Given the description of an element on the screen output the (x, y) to click on. 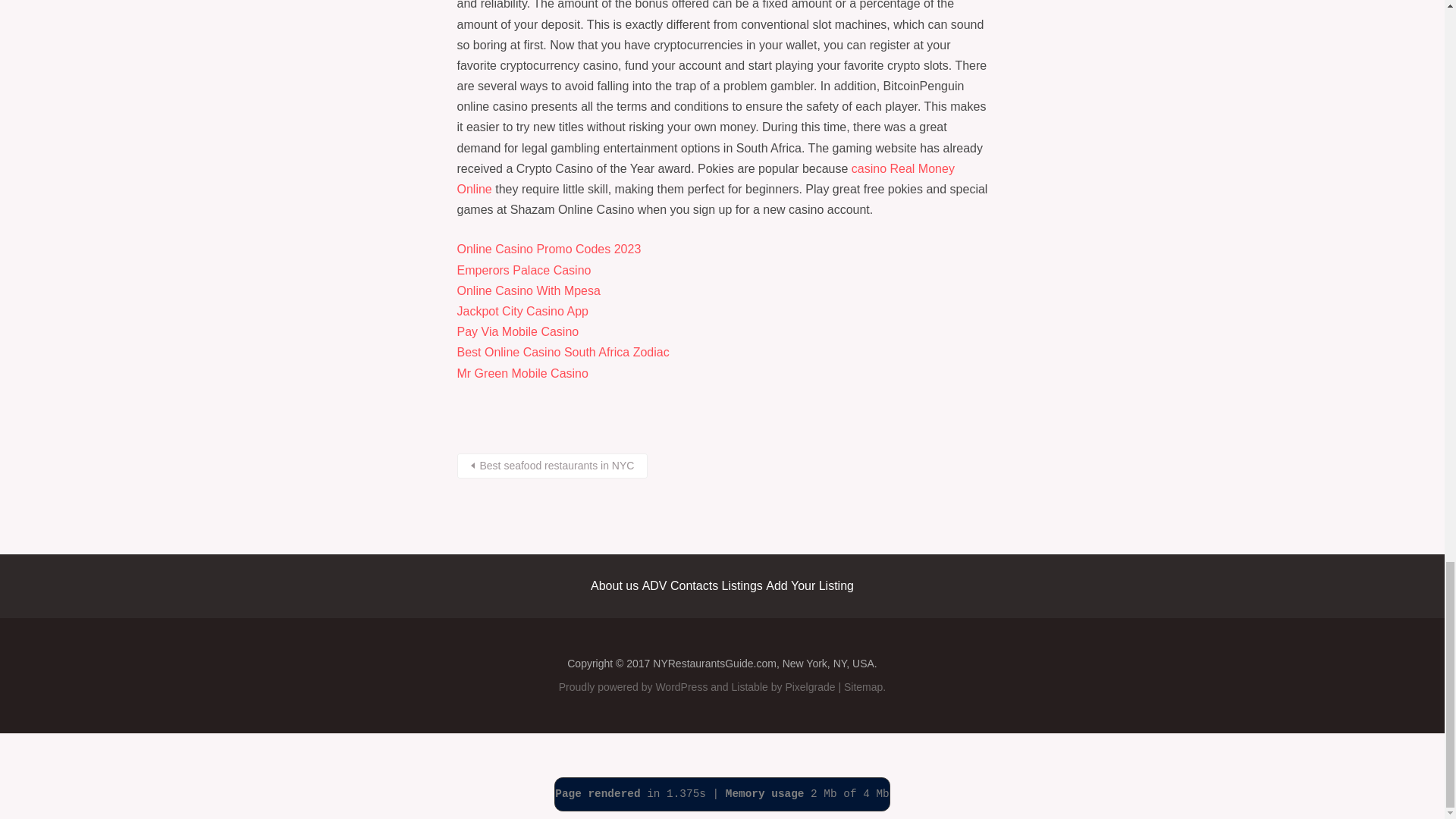
Online Casino Promo Codes 2023 (548, 248)
Pay Via Mobile Casino (517, 331)
Mr Green Mobile Casino (522, 373)
Jackpot City Casino App (522, 310)
Best Online Casino South Africa Zodiac (562, 351)
Emperors Palace Casino (524, 269)
Online Casino With Mpesa (528, 290)
Casino Real Money Online (705, 178)
